Given the description of an element on the screen output the (x, y) to click on. 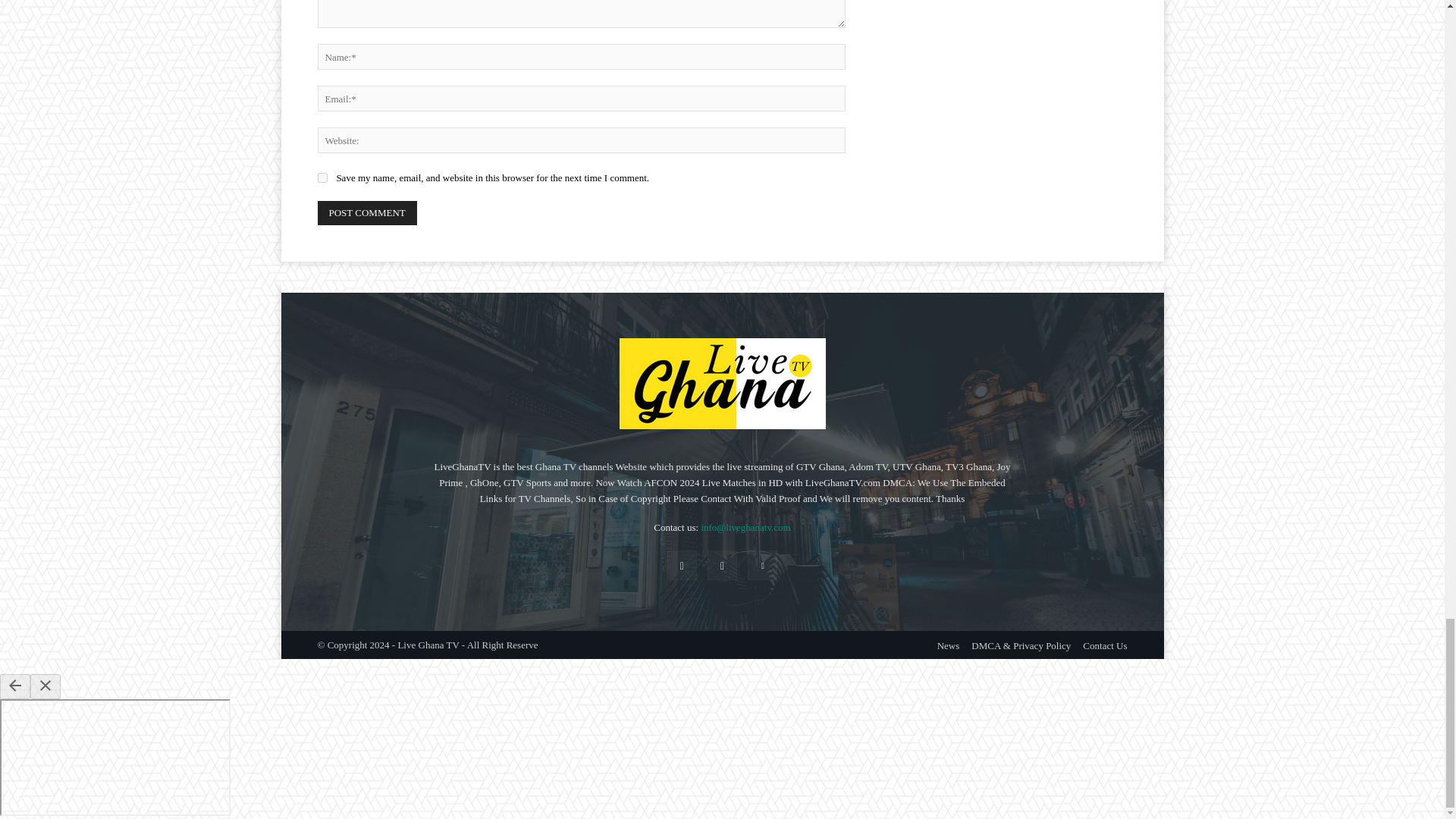
Post Comment (366, 212)
yes (321, 177)
